Given the description of an element on the screen output the (x, y) to click on. 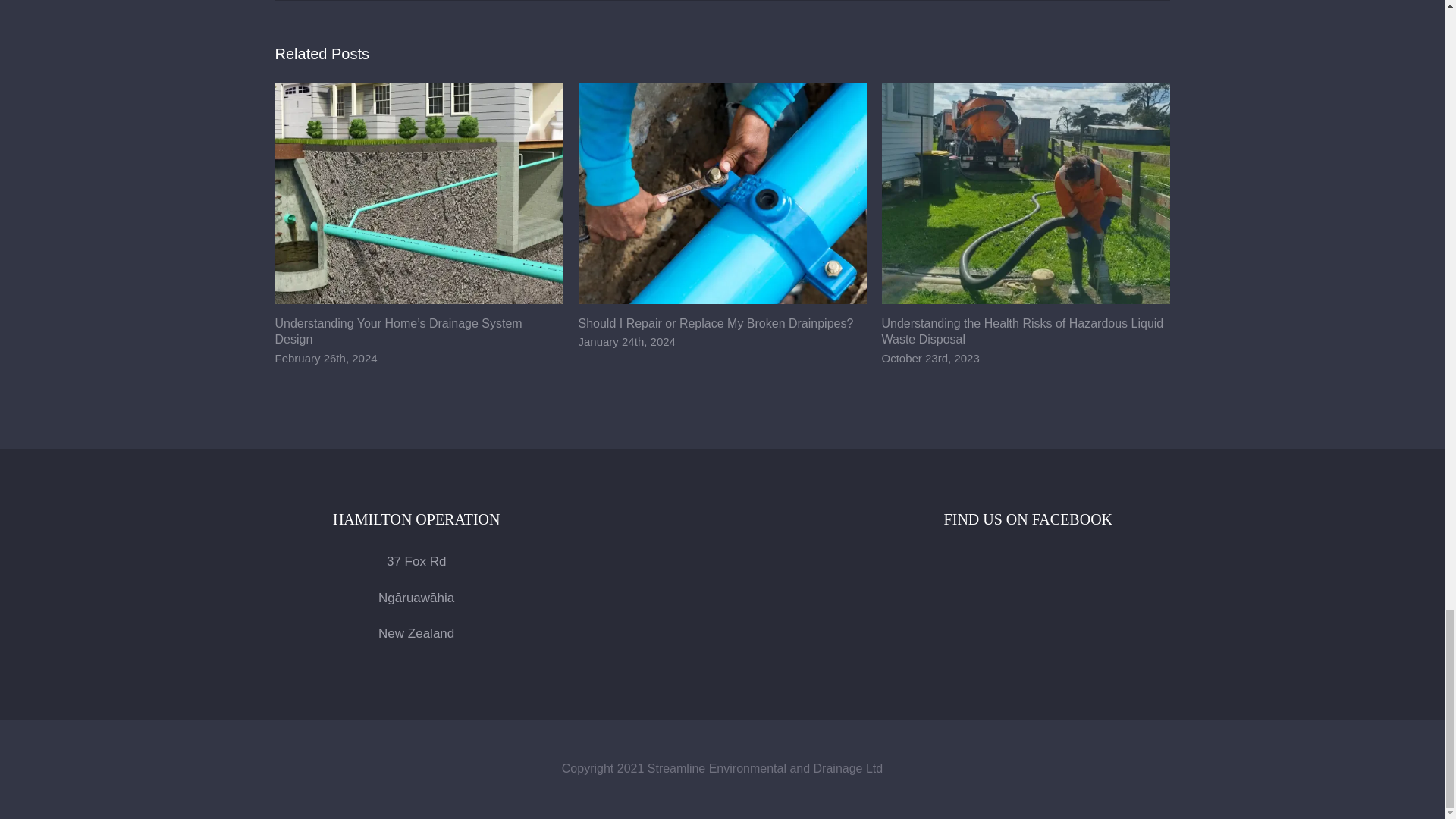
Should I Repair or Replace My Broken Drainpipes? (715, 323)
